Given the description of an element on the screen output the (x, y) to click on. 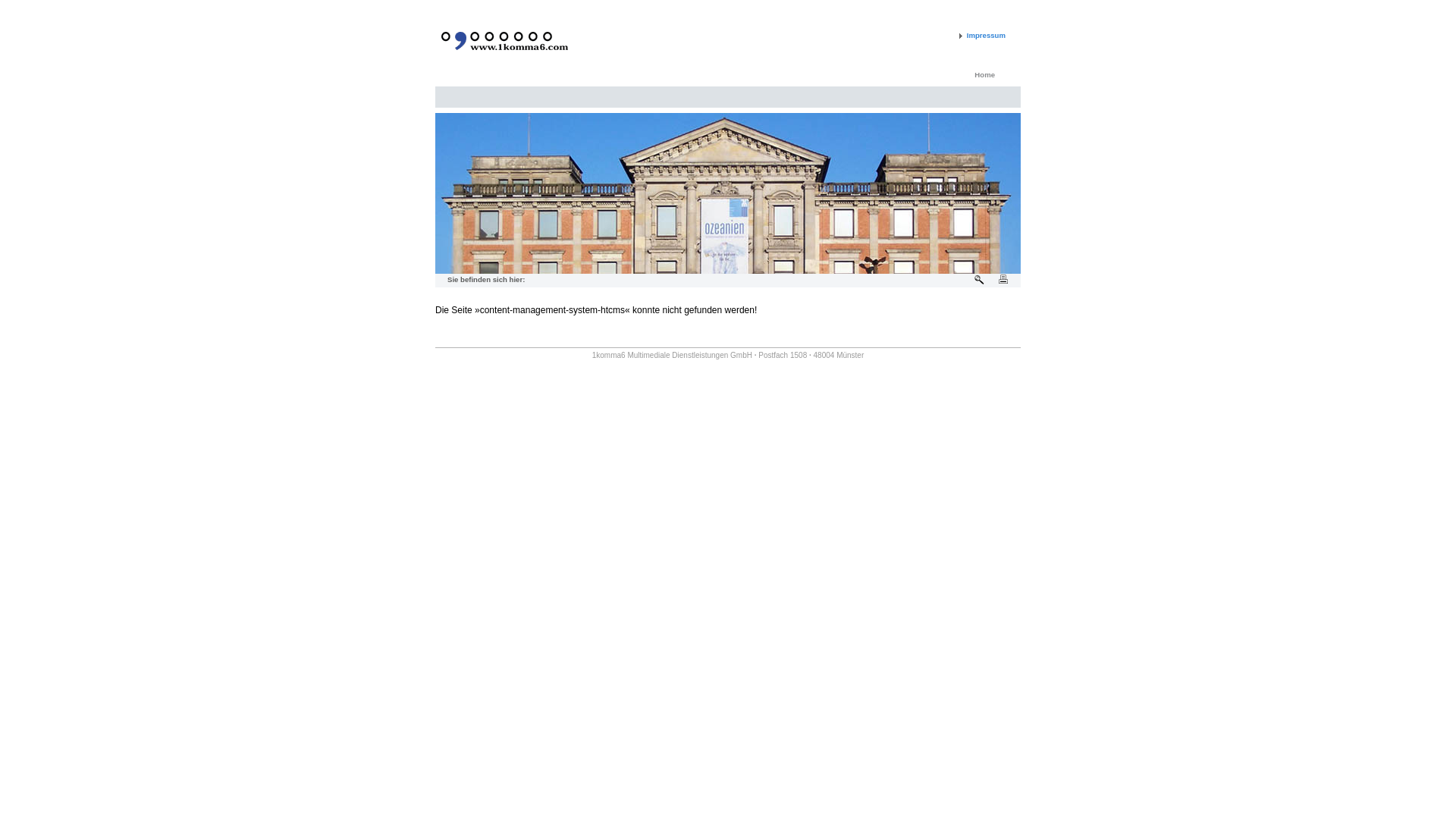
Suchen Element type: hover (979, 279)
Diese Seite drucken Element type: hover (1003, 279)
Home Element type: text (984, 74)
Impressum Element type: text (981, 35)
